Given the description of an element on the screen output the (x, y) to click on. 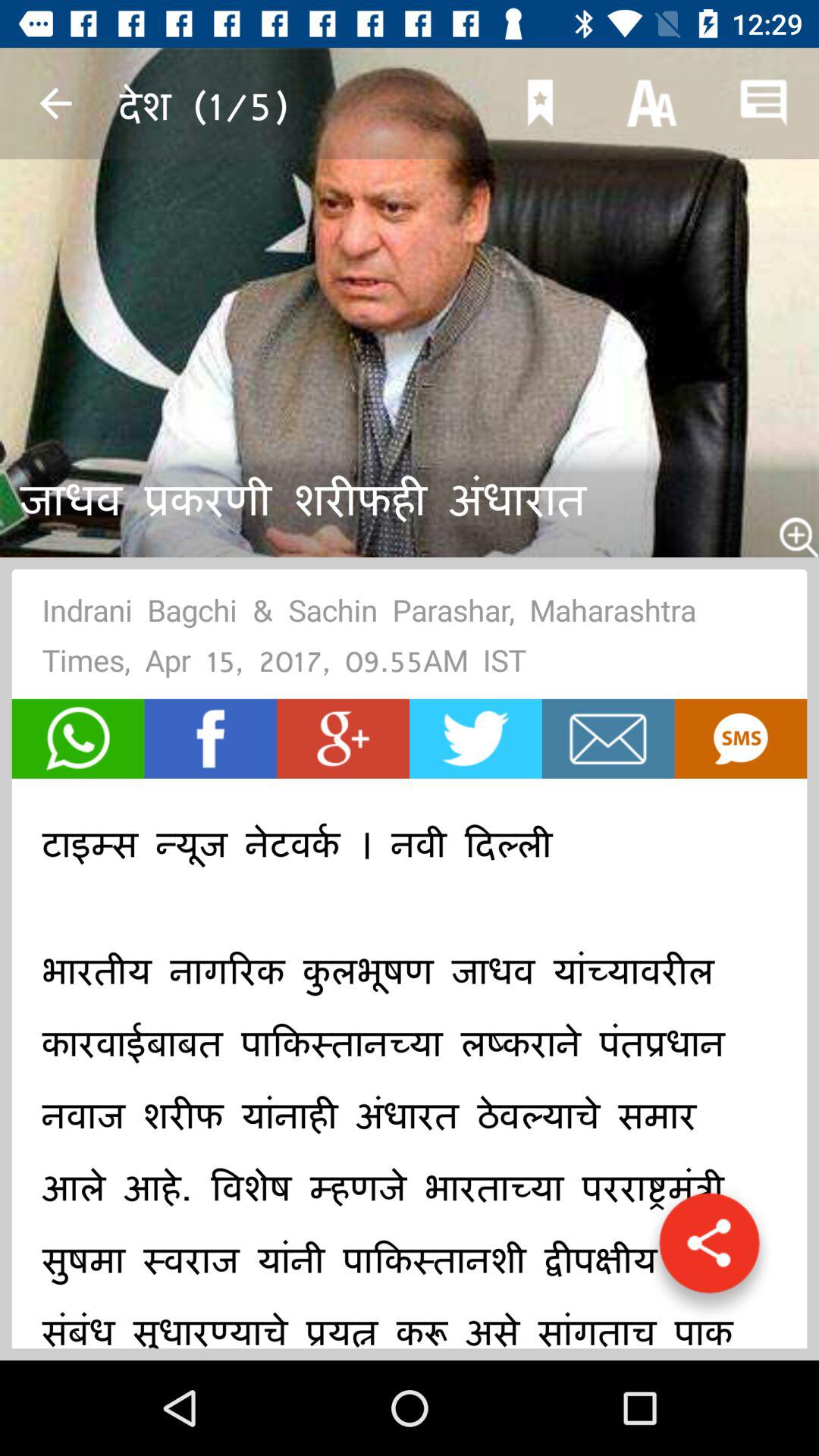
share the article (709, 1250)
